Given the description of an element on the screen output the (x, y) to click on. 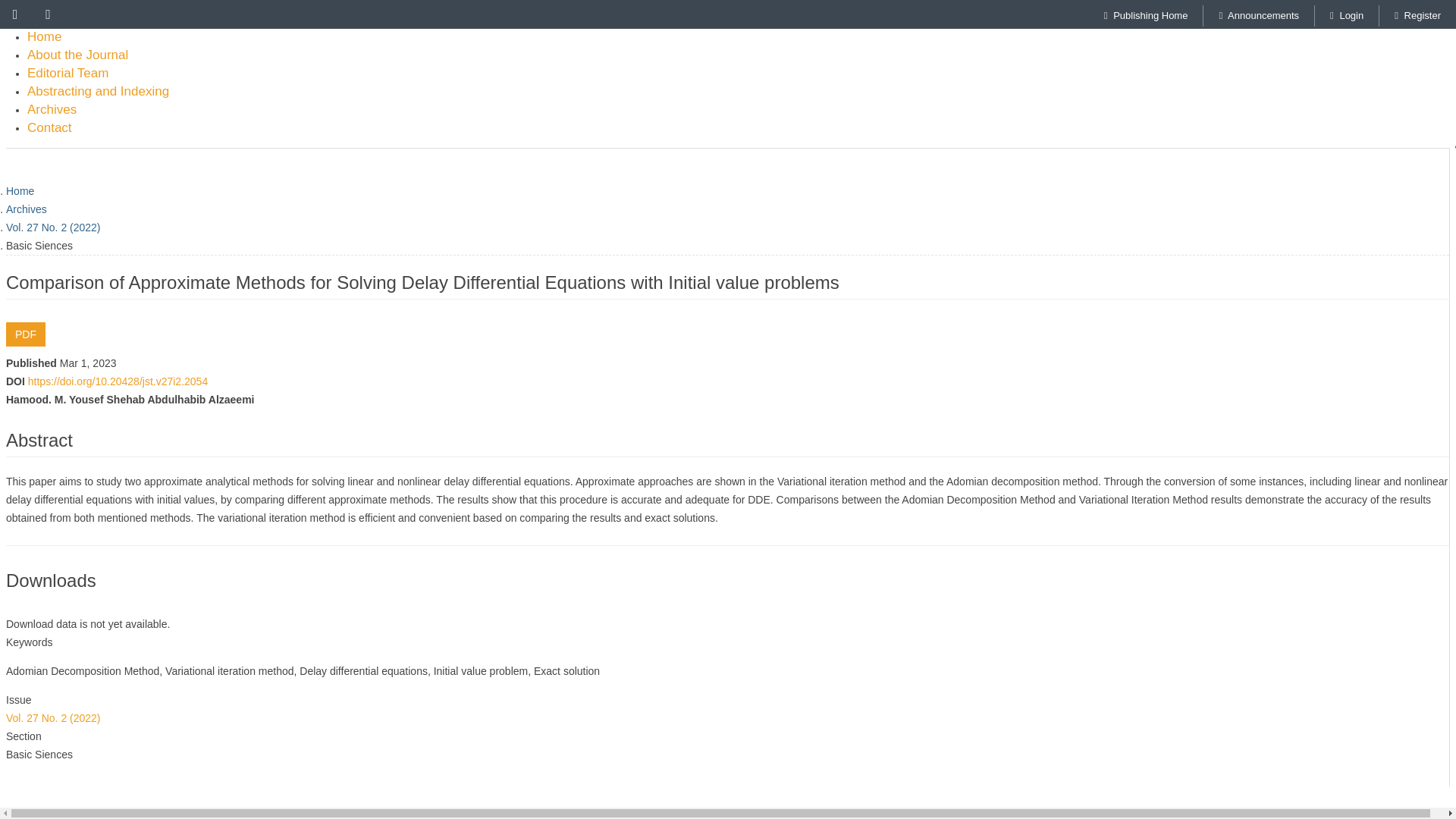
Home (19, 191)
Announcements (1259, 15)
Archives (25, 209)
PDF (25, 334)
Register (1417, 15)
Editorial Team (67, 73)
Contact (49, 128)
Login (1346, 15)
Publishing Home (1146, 15)
About the Journal (77, 55)
